Given the description of an element on the screen output the (x, y) to click on. 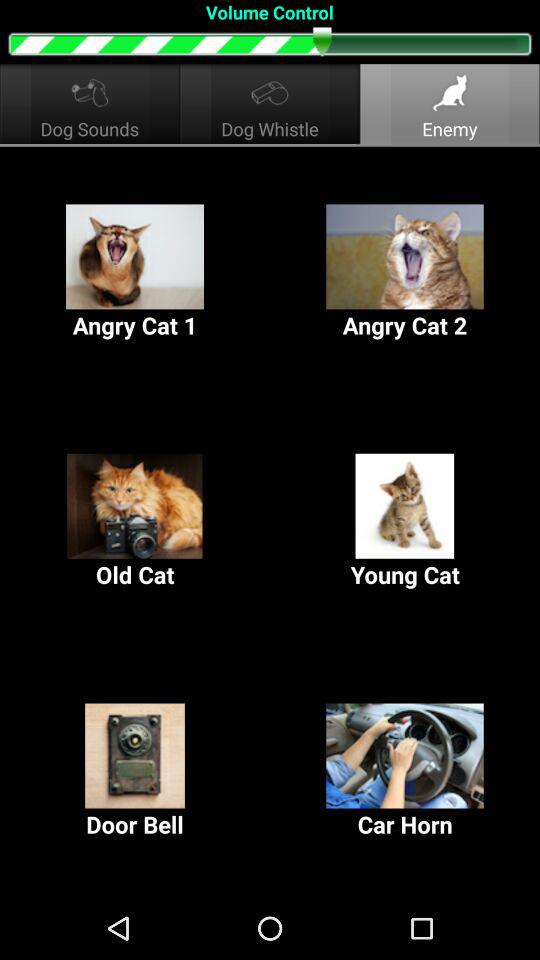
press the button above the door bell icon (405, 521)
